Given the description of an element on the screen output the (x, y) to click on. 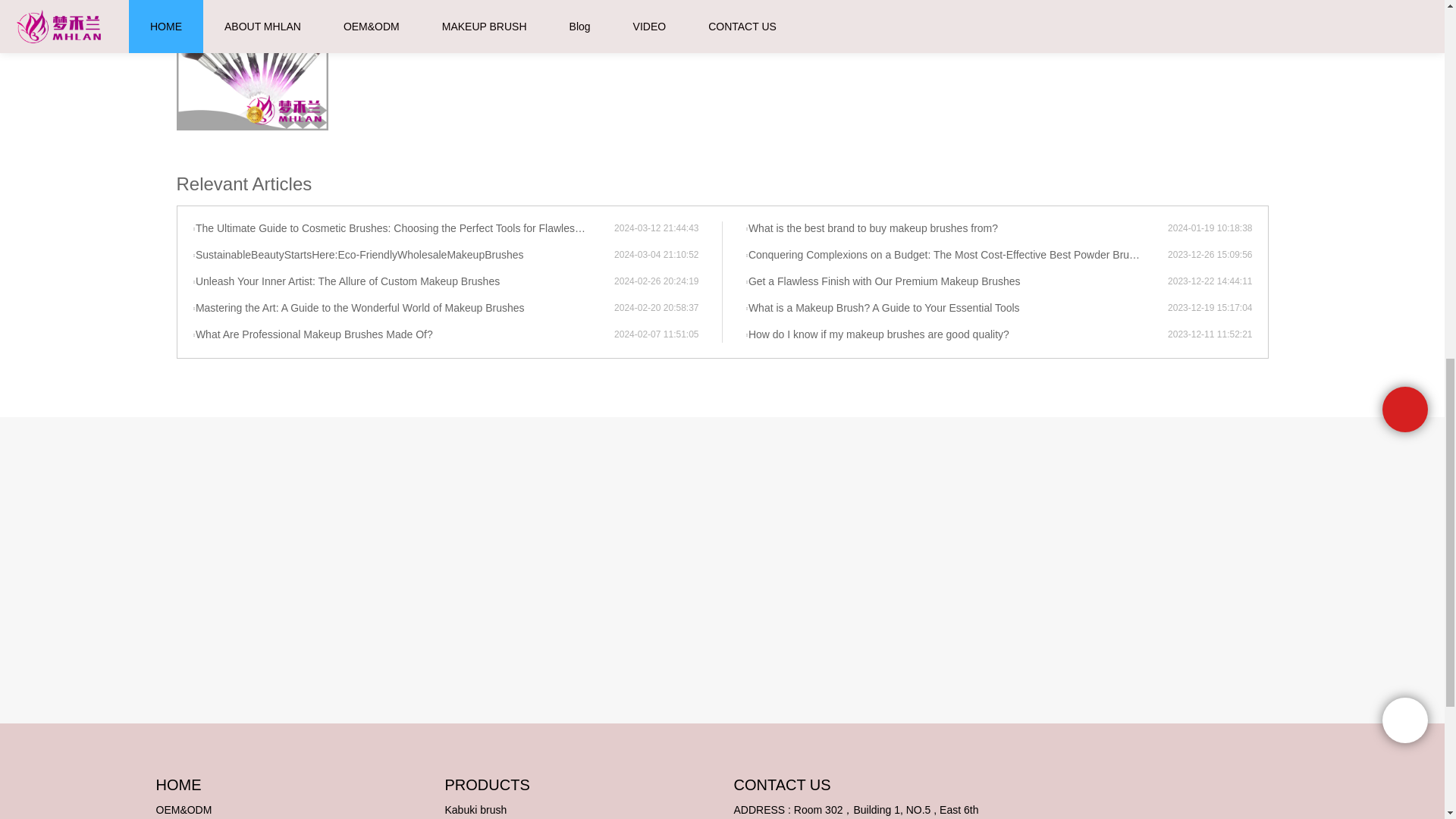
What is the best brand to buy makeup brushes from? (955, 228)
Get a Flawless Finish with Our Premium Makeup Brushes (955, 281)
How do I know if my makeup brushes are good quality? (955, 335)
What Are Professional Makeup Brushes Made Of? (403, 335)
Kabuki brush (475, 809)
